Given the description of an element on the screen output the (x, y) to click on. 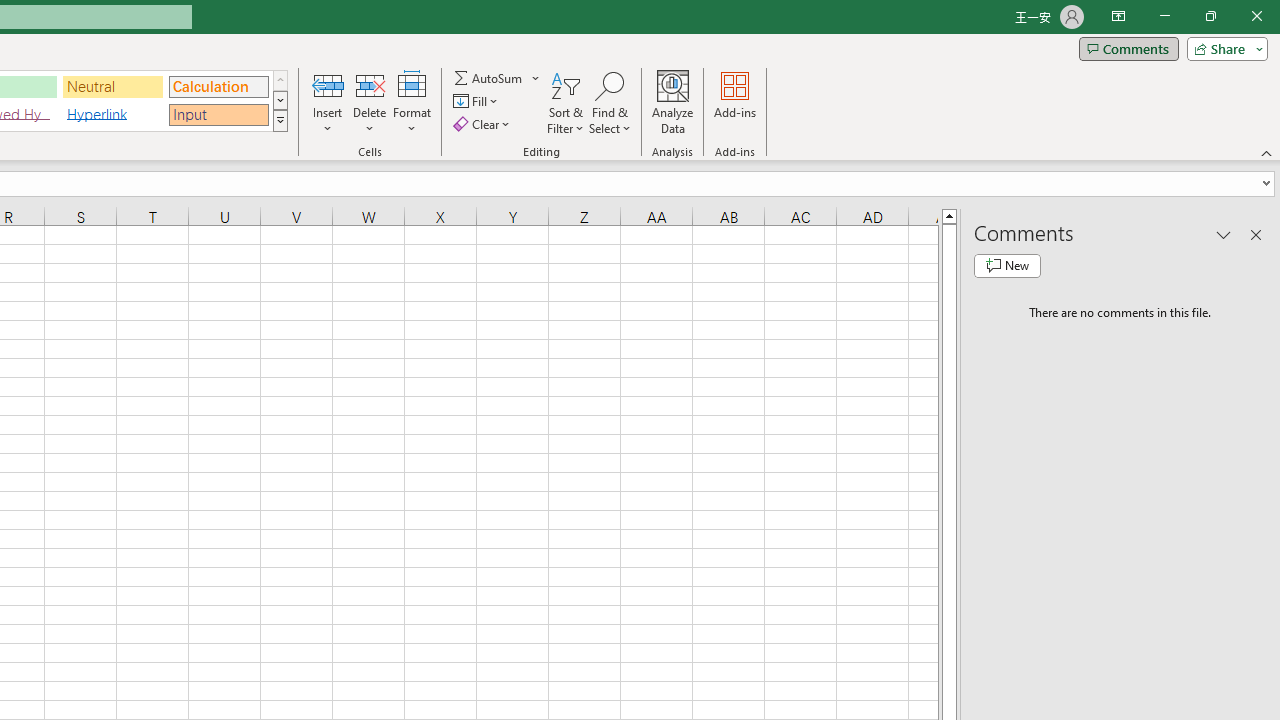
Clear (483, 124)
Delete Cells... (369, 84)
